Given the description of an element on the screen output the (x, y) to click on. 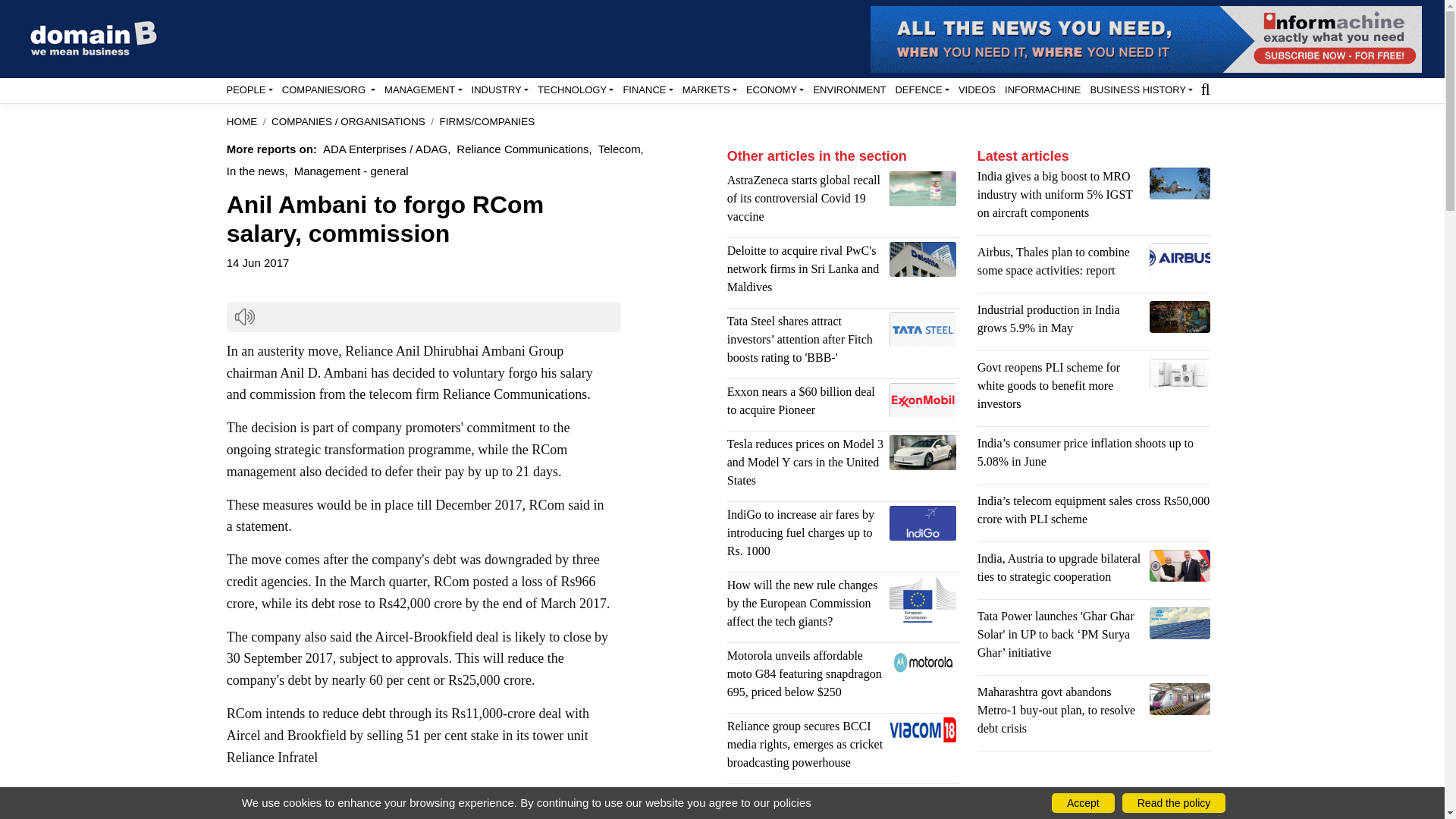
Advertisement (843, 807)
PEOPLE (248, 89)
Advertisement (468, 802)
Open search box (1204, 87)
Click here to listen (244, 316)
